Given the description of an element on the screen output the (x, y) to click on. 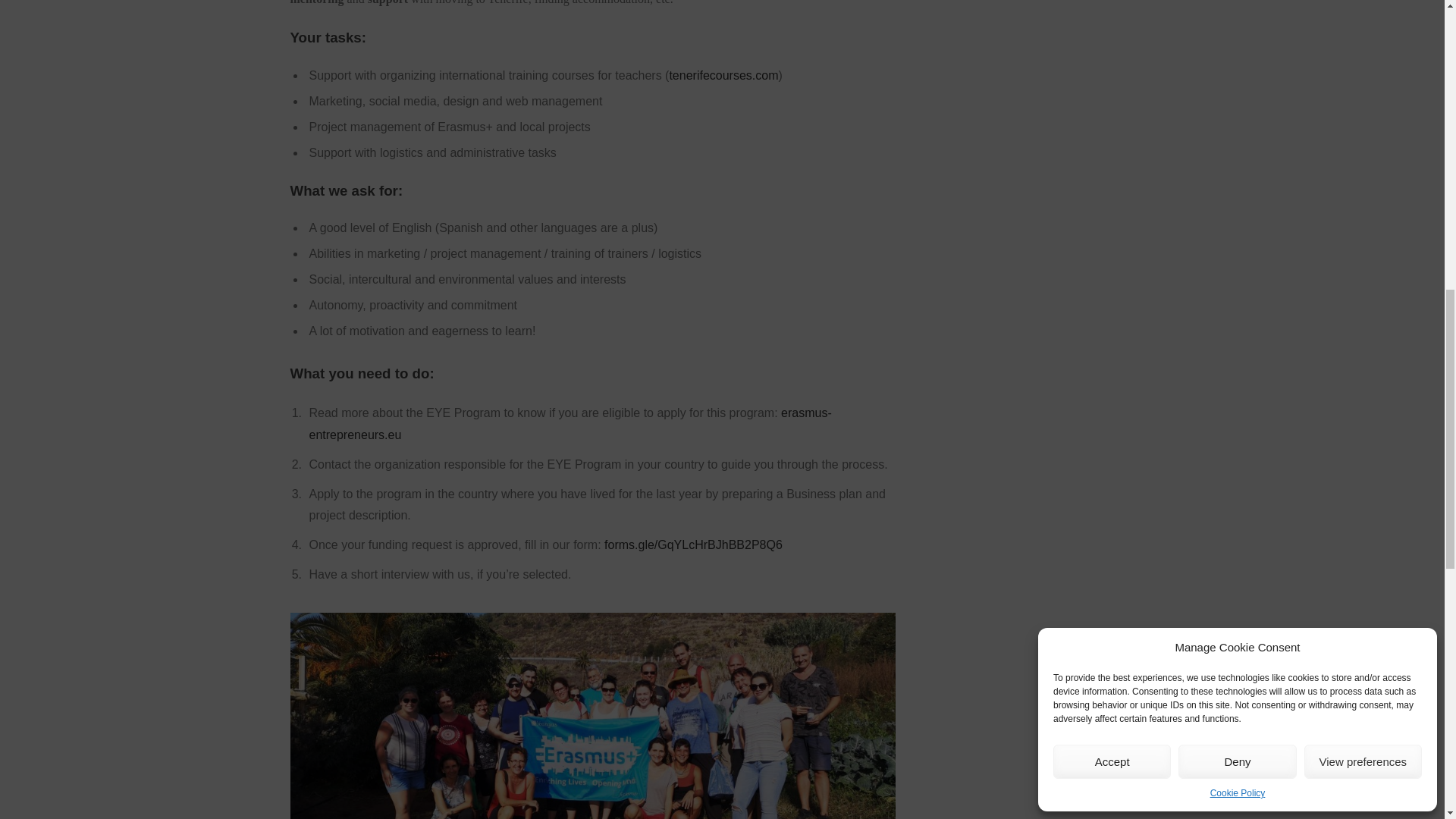
tenerifecourses.com (722, 74)
erasmus-entrepreneurs.eu (569, 423)
Likebox Iframe (1046, 47)
